Given the description of an element on the screen output the (x, y) to click on. 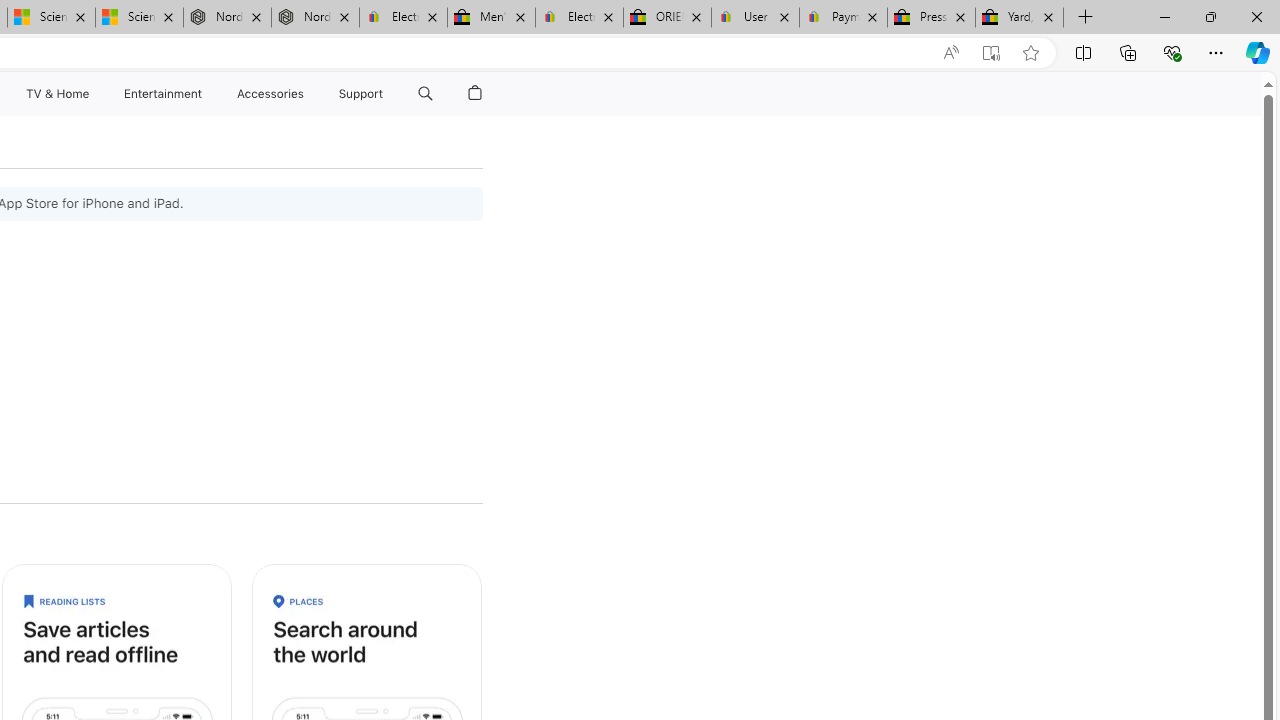
Press Room - eBay Inc. (931, 17)
Support (361, 93)
Support menu (387, 93)
Accessories (269, 93)
TV & Home (56, 93)
TV and Home menu (92, 93)
